Given the description of an element on the screen output the (x, y) to click on. 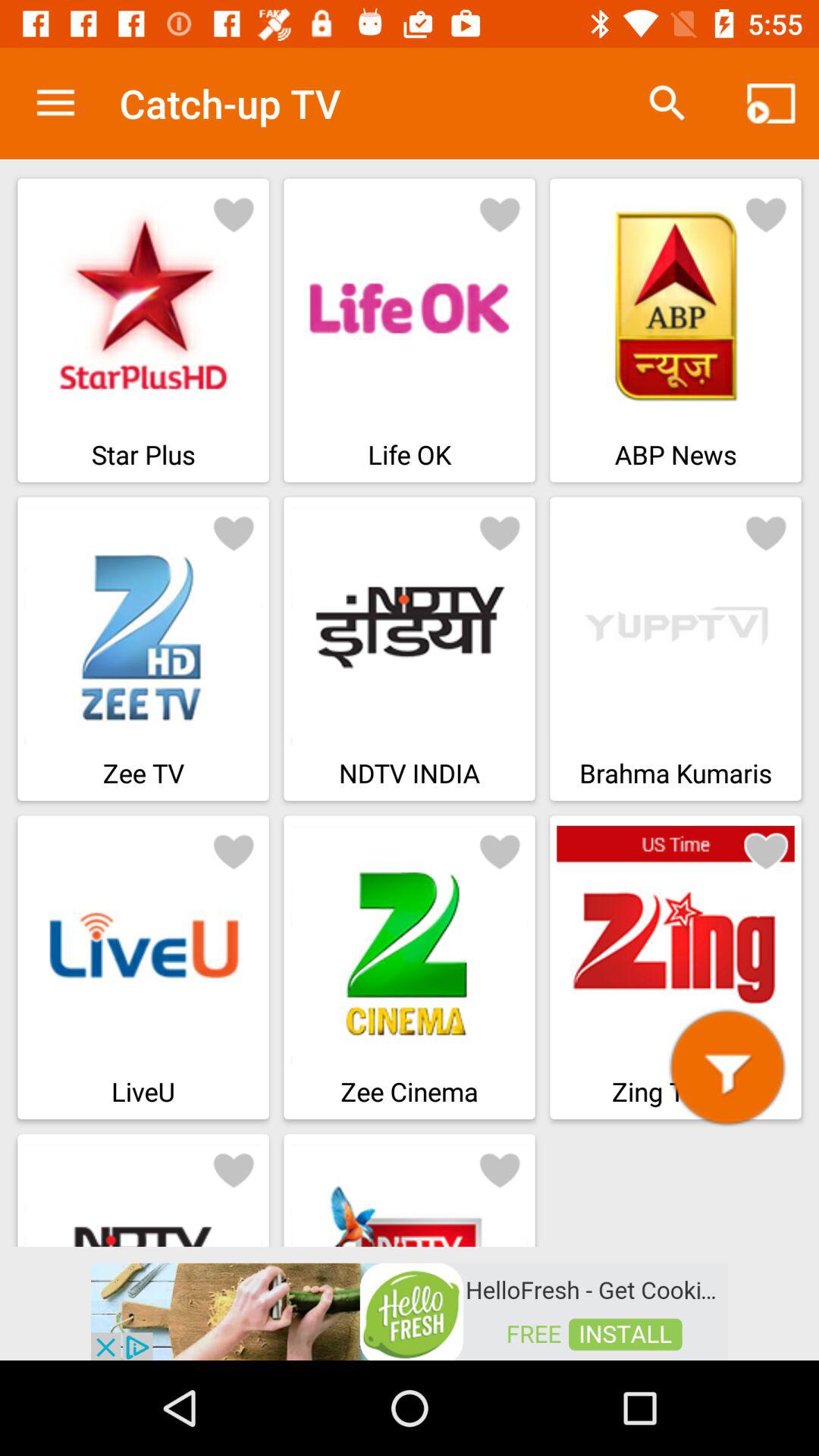
add to favorite (233, 213)
